Given the description of an element on the screen output the (x, y) to click on. 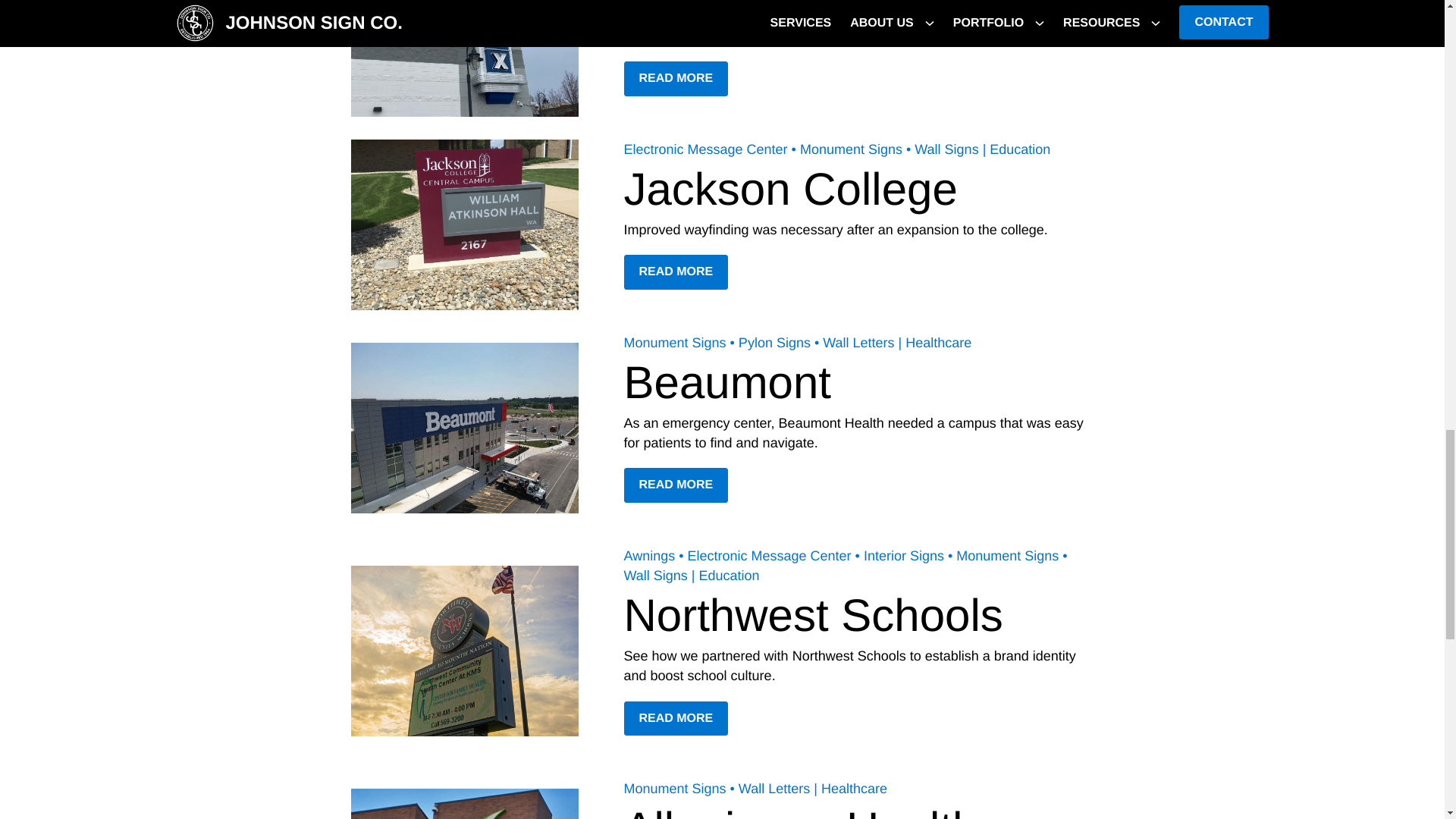
READ MORE (675, 718)
READ MORE (675, 271)
READ MORE (675, 484)
READ MORE (675, 78)
